Given the description of an element on the screen output the (x, y) to click on. 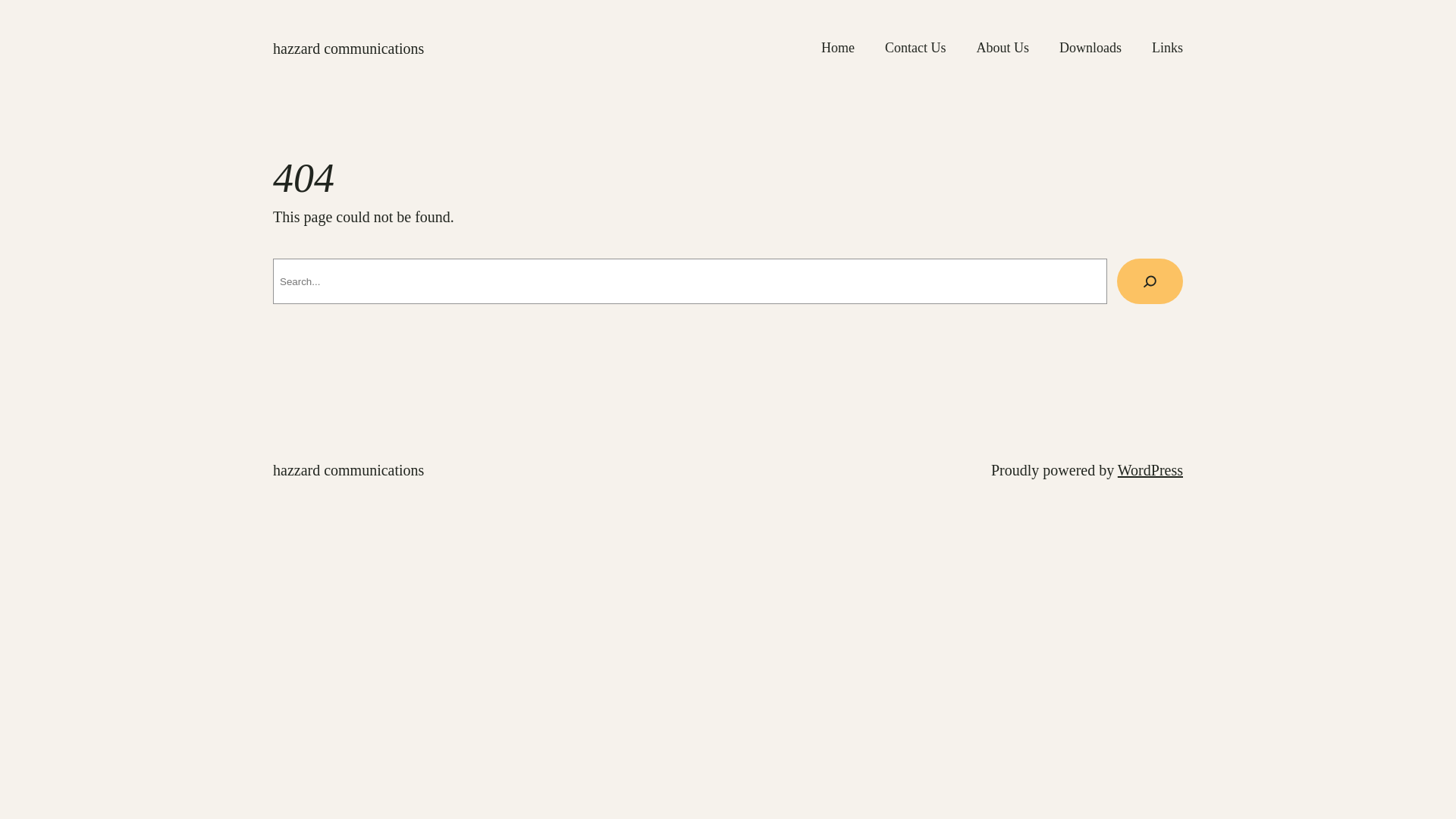
Contact Us Element type: text (915, 47)
Downloads Element type: text (1090, 47)
WordPress Element type: text (1150, 469)
Home Element type: text (837, 47)
About Us Element type: text (1002, 47)
hazzard communications Element type: text (348, 469)
hazzard communications Element type: text (348, 48)
Links Element type: text (1167, 47)
